Given the description of an element on the screen output the (x, y) to click on. 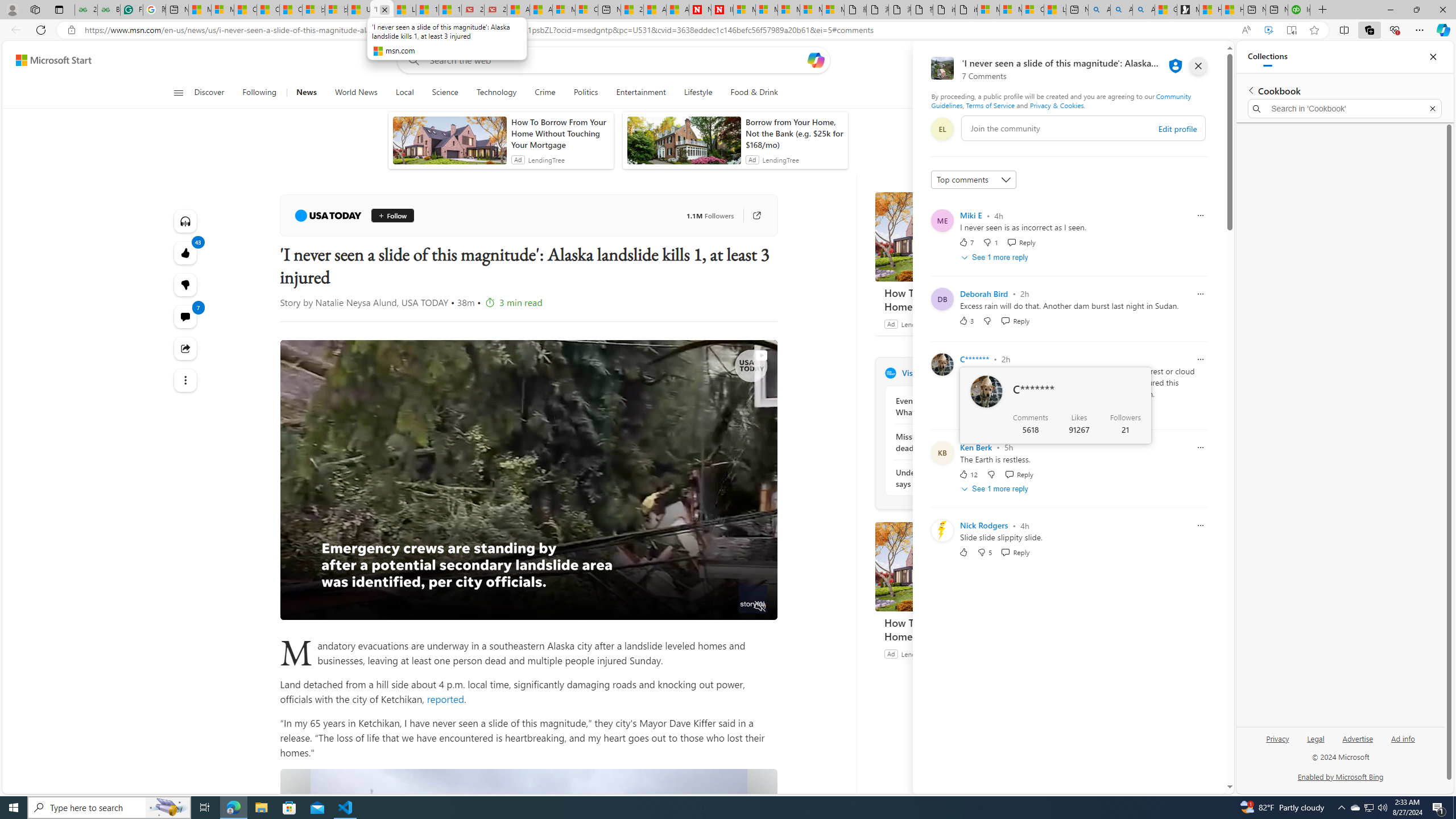
LendingTree (919, 653)
21 Movies That Outdid the Books They Were Based On (495, 9)
Intuit QuickBooks Online - Quickbooks (1298, 9)
Borrow from Your Home, Not the Bank (e.g. $25k for $168/mo) (794, 133)
